Given the description of an element on the screen output the (x, y) to click on. 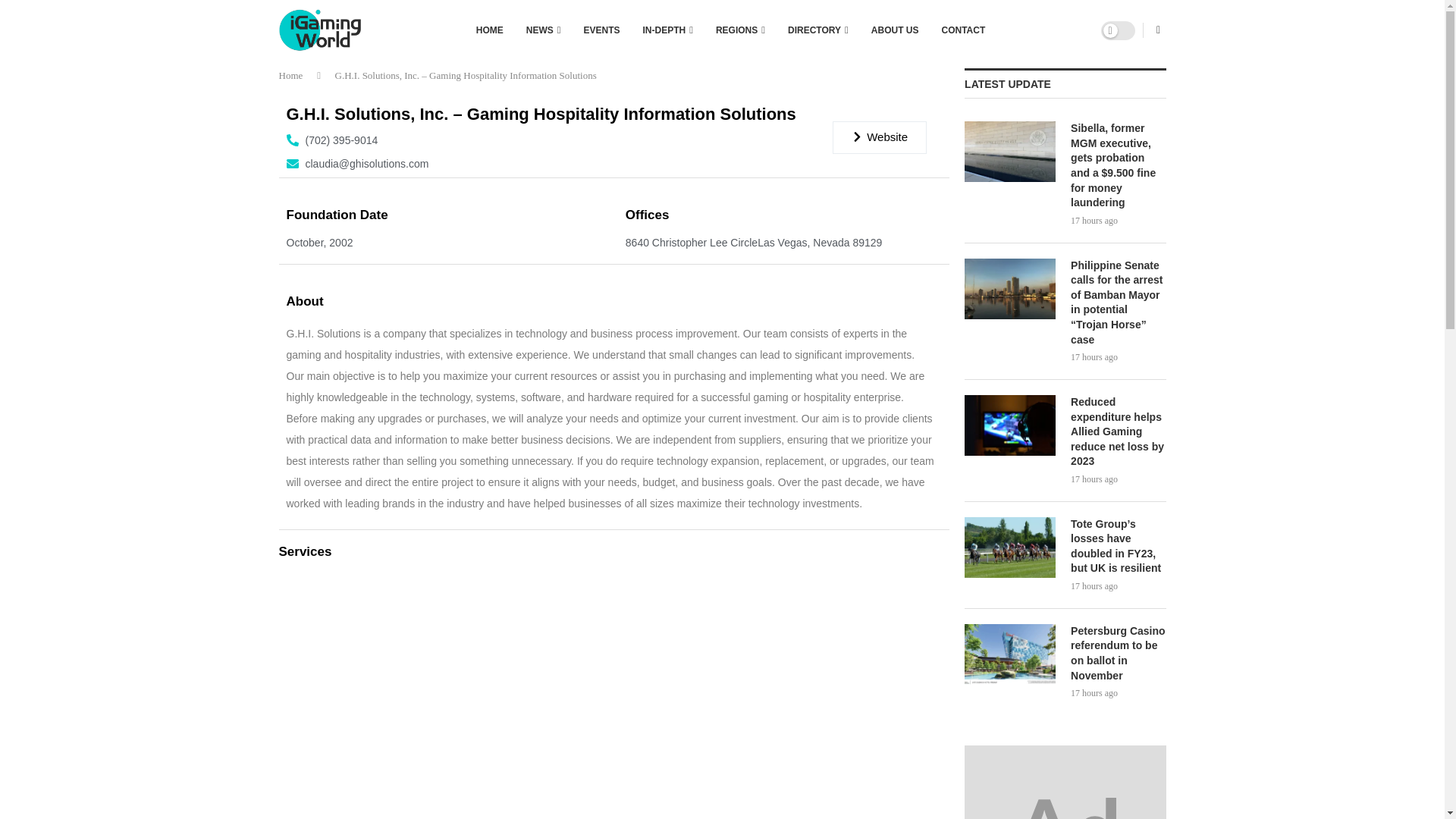
Petersburg Casino referendum to be on ballot in November (1009, 654)
NEWS (542, 30)
HOME (489, 30)
Petersburg Casino referendum to be on ballot in November (1118, 653)
